Given the description of an element on the screen output the (x, y) to click on. 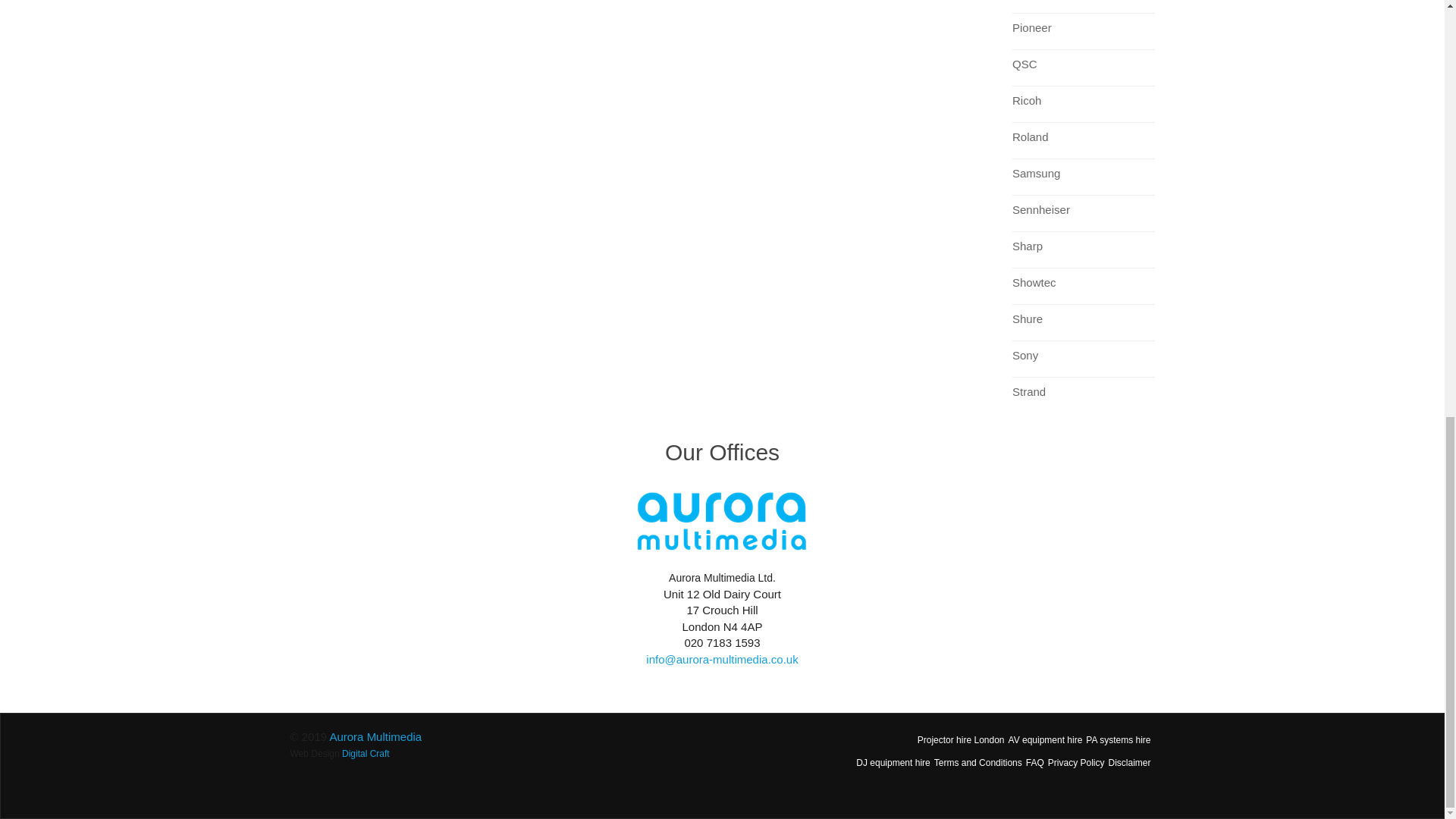
PA systems Hire London (1118, 739)
DJ equipment Hire London (893, 762)
Aurora Multimedia (375, 736)
projector hire london (960, 739)
AV equipment Hire London (1046, 739)
